Given the description of an element on the screen output the (x, y) to click on. 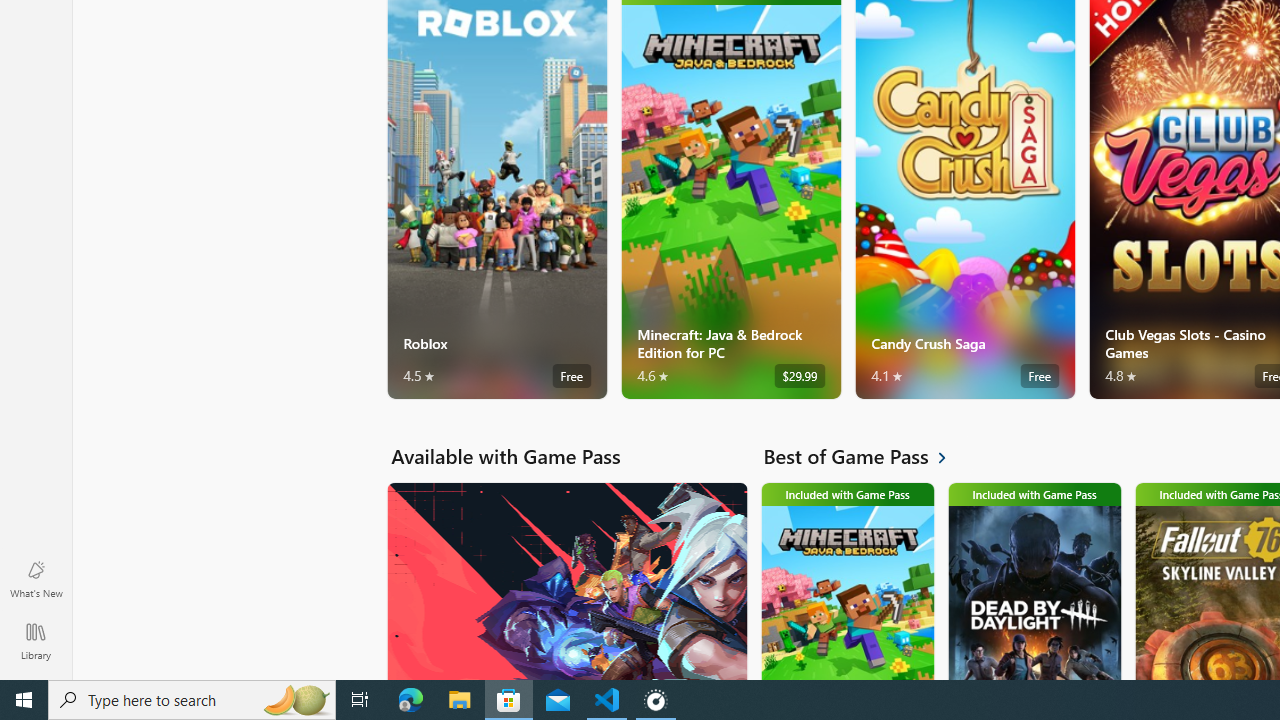
Available with Game Pass. VALORANT (566, 580)
See all  Best of Game Pass (866, 455)
